Given the description of an element on the screen output the (x, y) to click on. 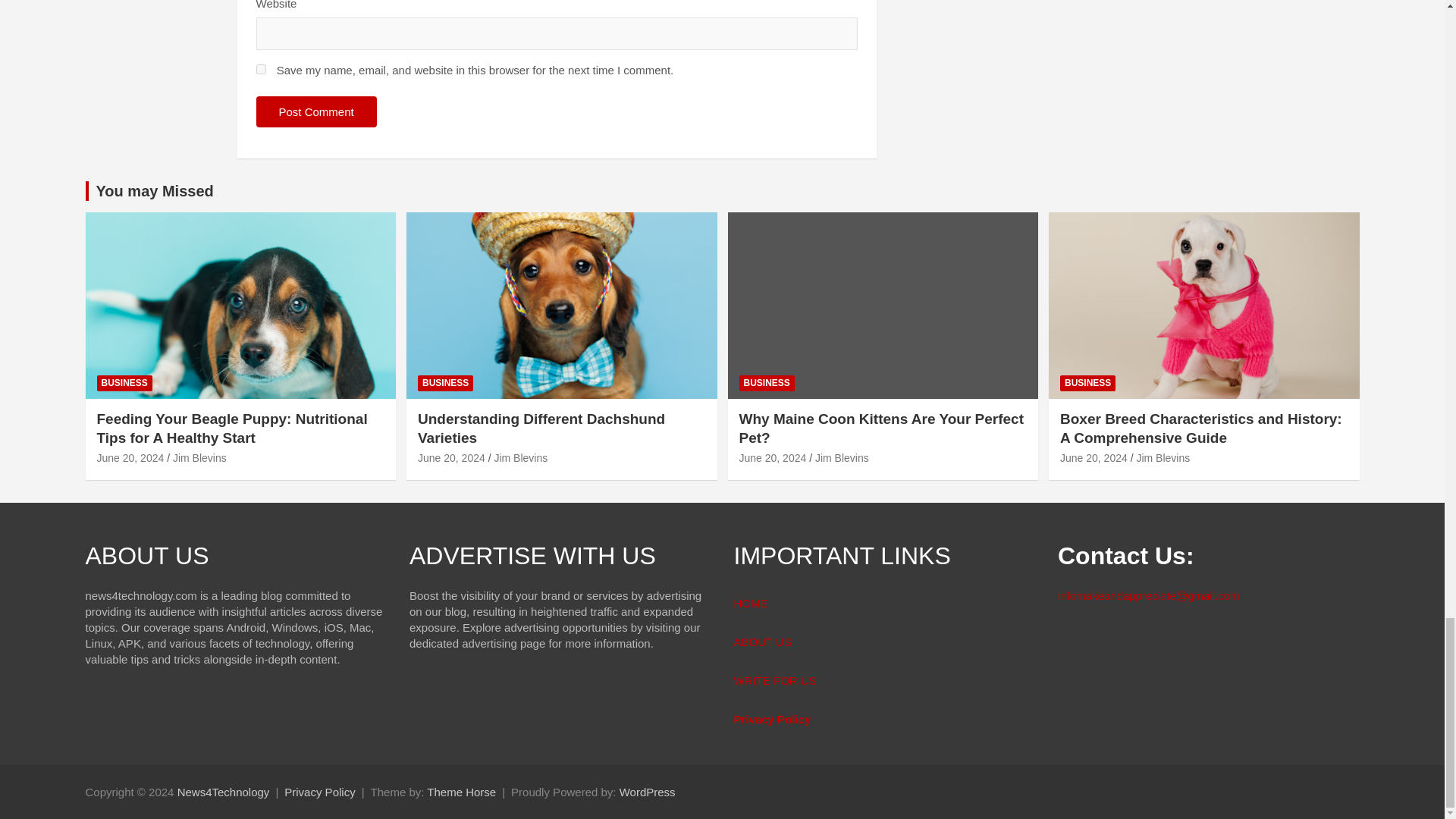
Post Comment (316, 111)
WordPress (647, 791)
Post Comment (316, 111)
Understanding Different Dachshund Varieties (450, 458)
Theme Horse (461, 791)
News4Technology (223, 791)
Why Maine Coon Kittens Are Your Perfect Pet? (772, 458)
yes (261, 69)
